Given the description of an element on the screen output the (x, y) to click on. 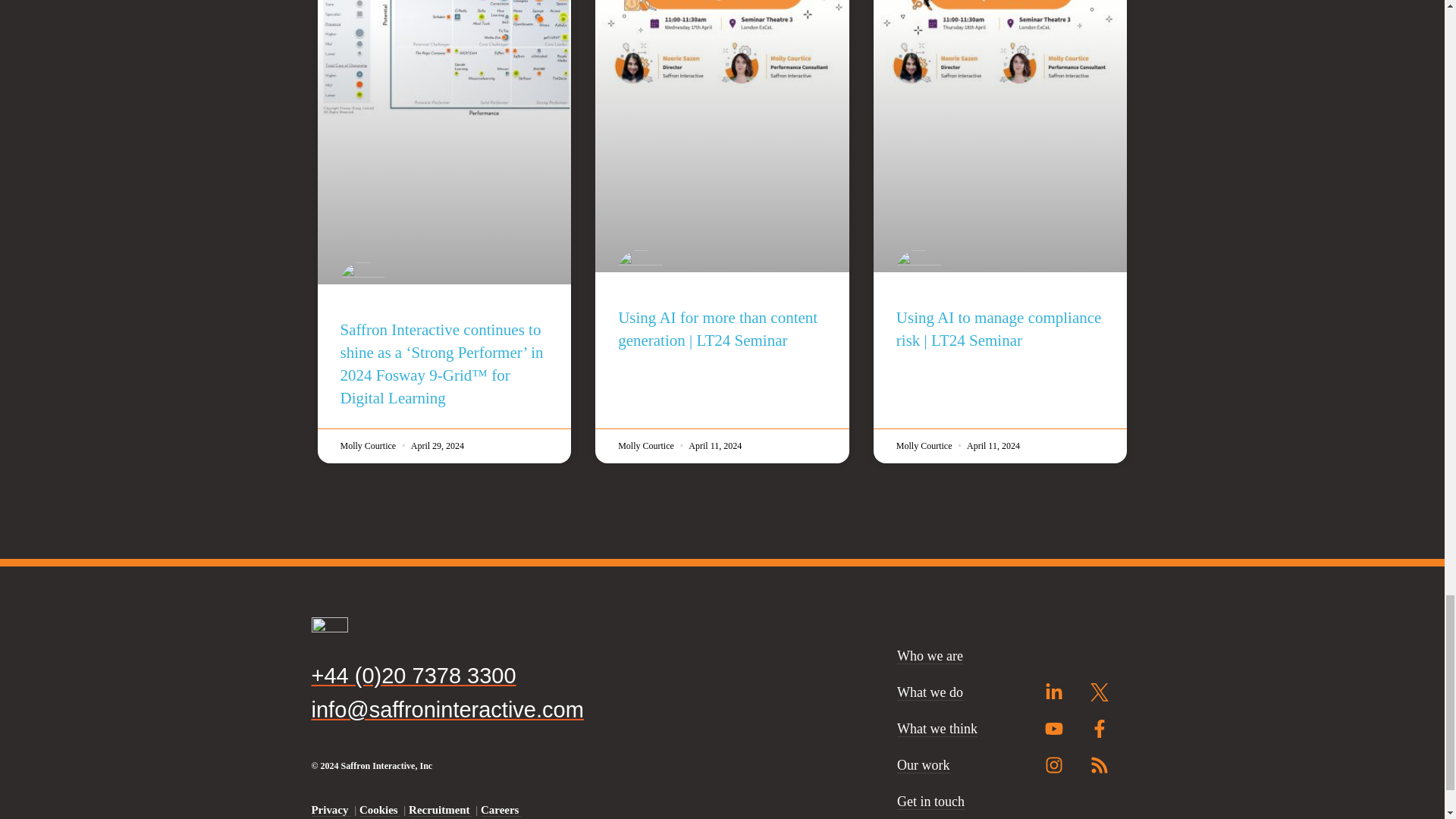
Cookies  (379, 809)
Recruitment  (440, 809)
Privacy (330, 809)
Careers  (500, 809)
